Given the description of an element on the screen output the (x, y) to click on. 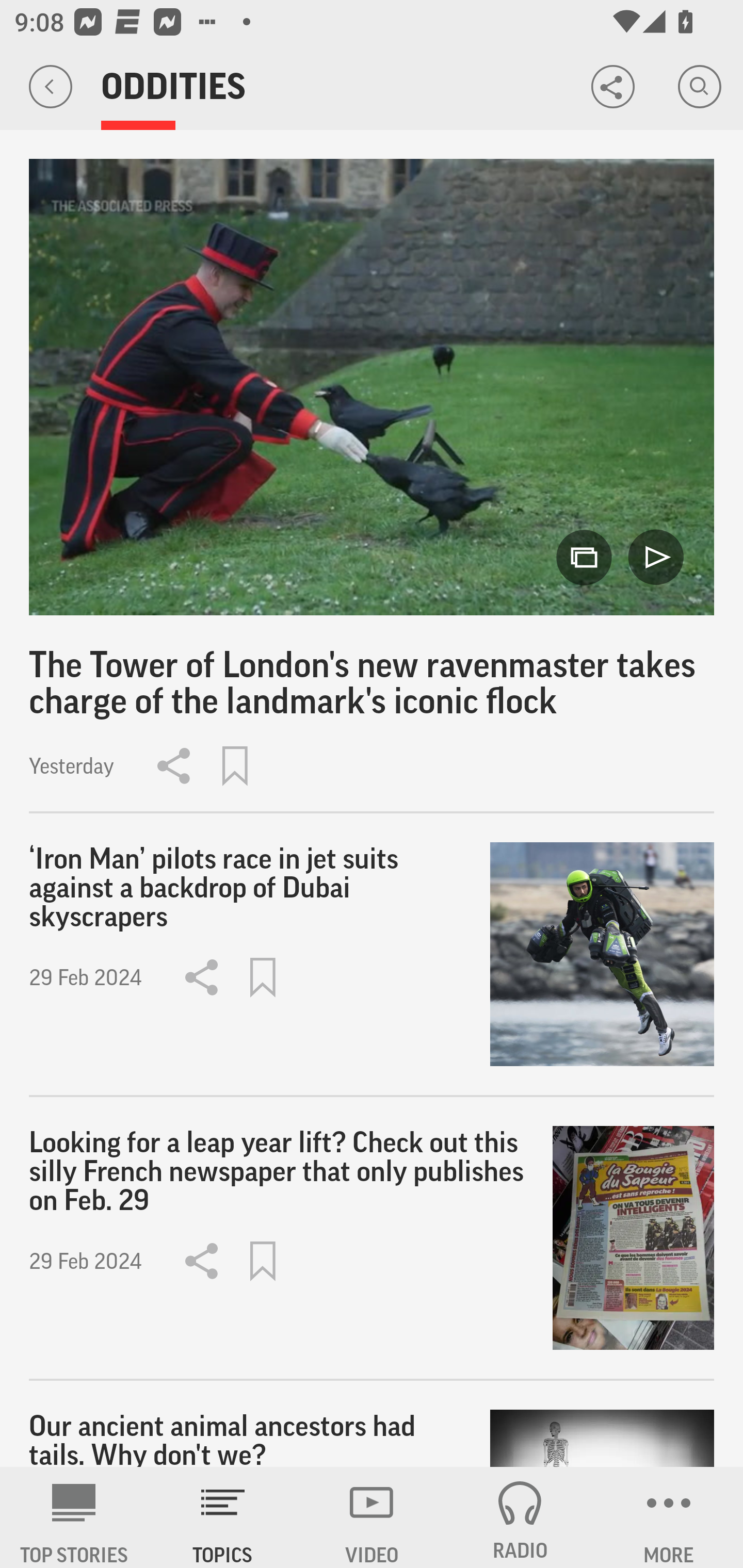
AP News TOP STORIES (74, 1517)
TOPICS (222, 1517)
VIDEO (371, 1517)
RADIO (519, 1517)
MORE (668, 1517)
